Given the description of an element on the screen output the (x, y) to click on. 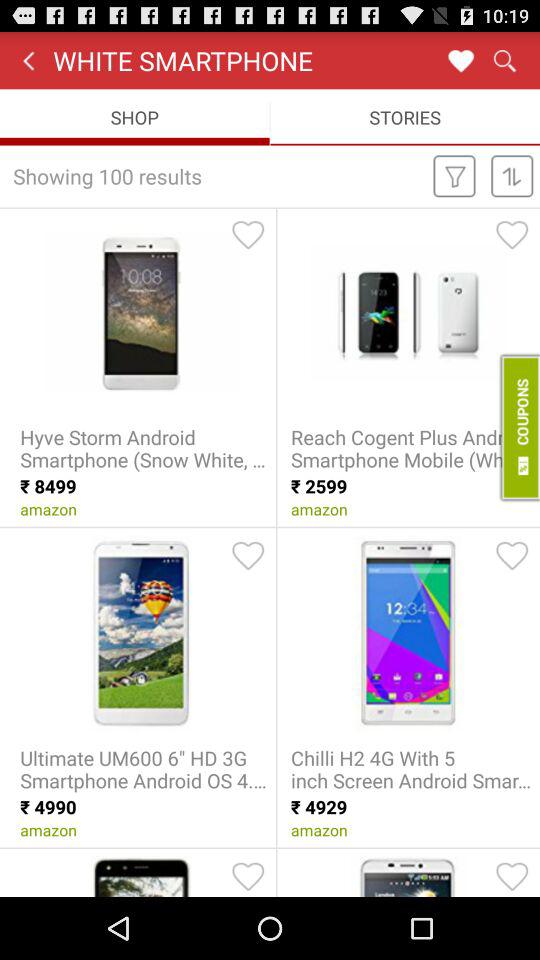
to avail coupon (518, 427)
